Given the description of an element on the screen output the (x, y) to click on. 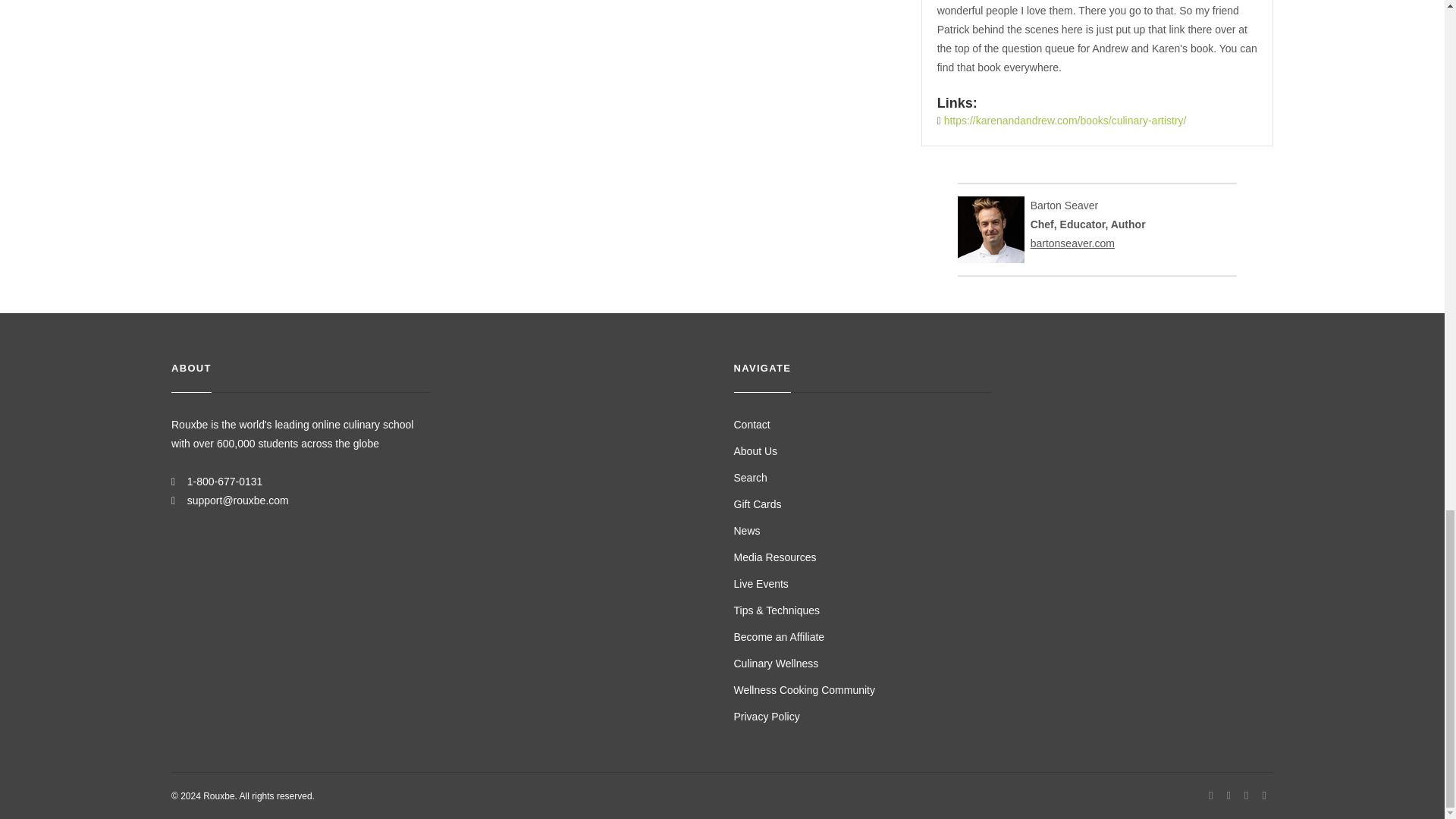
Gift Cards (757, 503)
Search (750, 477)
Wellness Cooking Community (804, 689)
Become an Affiliate (779, 636)
Contact (751, 424)
Culinary Wellness (775, 663)
News (746, 530)
Privacy Policy (766, 716)
Media Resources (774, 557)
About Us (755, 451)
bartonseaver.com (1072, 243)
Live Events (761, 583)
